Given the description of an element on the screen output the (x, y) to click on. 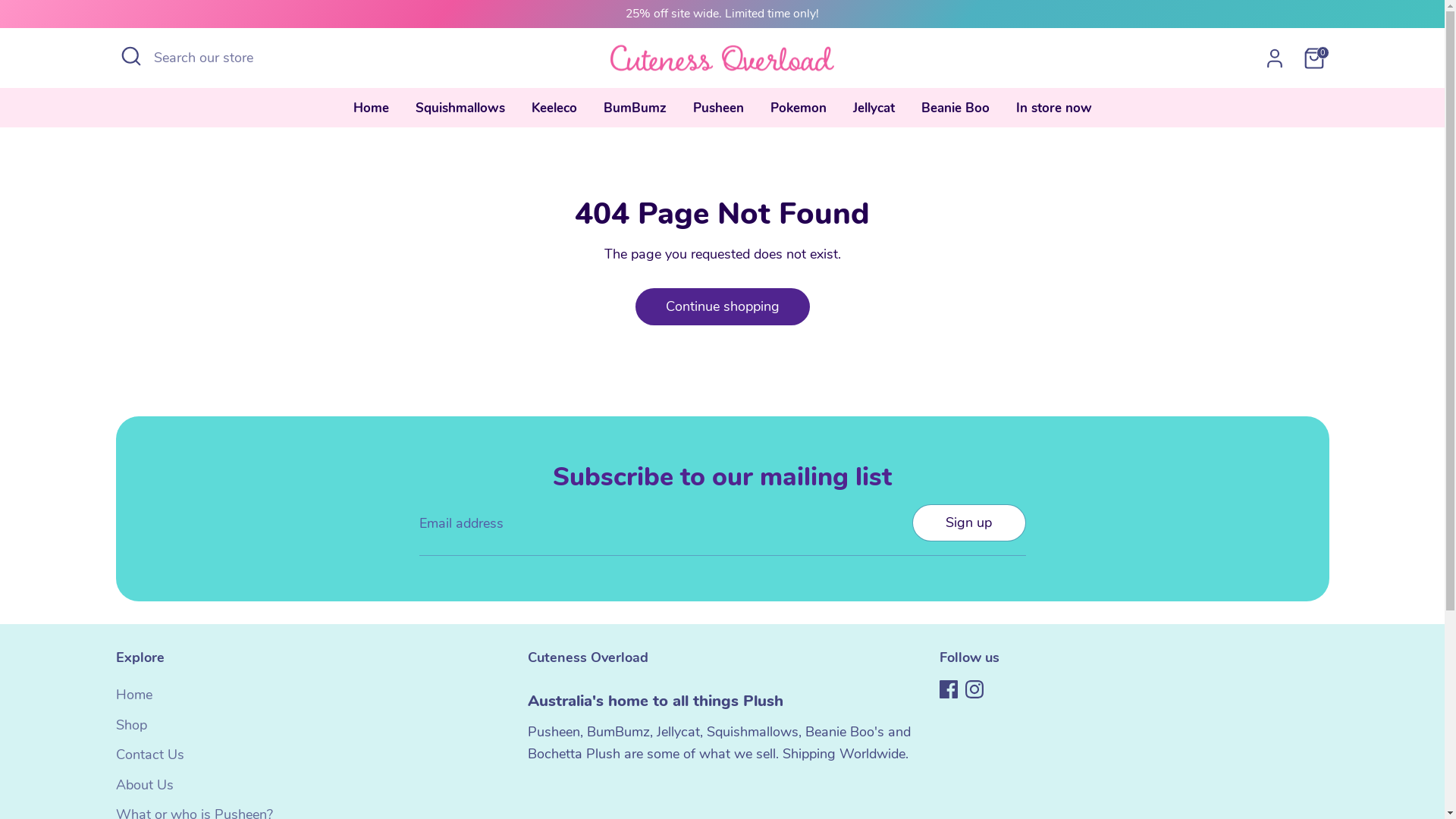
Jellycat Element type: text (873, 112)
Shop Element type: text (130, 724)
In store now Element type: text (1053, 112)
Home Element type: text (133, 694)
Continue shopping Element type: text (721, 306)
BumBumz Element type: text (634, 112)
Squishmallows Element type: text (459, 112)
Home Element type: text (370, 112)
Keeleco Element type: text (554, 112)
Pusheen Element type: text (717, 112)
Pokemon Element type: text (797, 112)
Beanie Boo Element type: text (955, 112)
Contact Us Element type: text (149, 754)
0 Element type: text (1313, 58)
Sign up Element type: text (969, 522)
About Us Element type: text (143, 784)
